Given the description of an element on the screen output the (x, y) to click on. 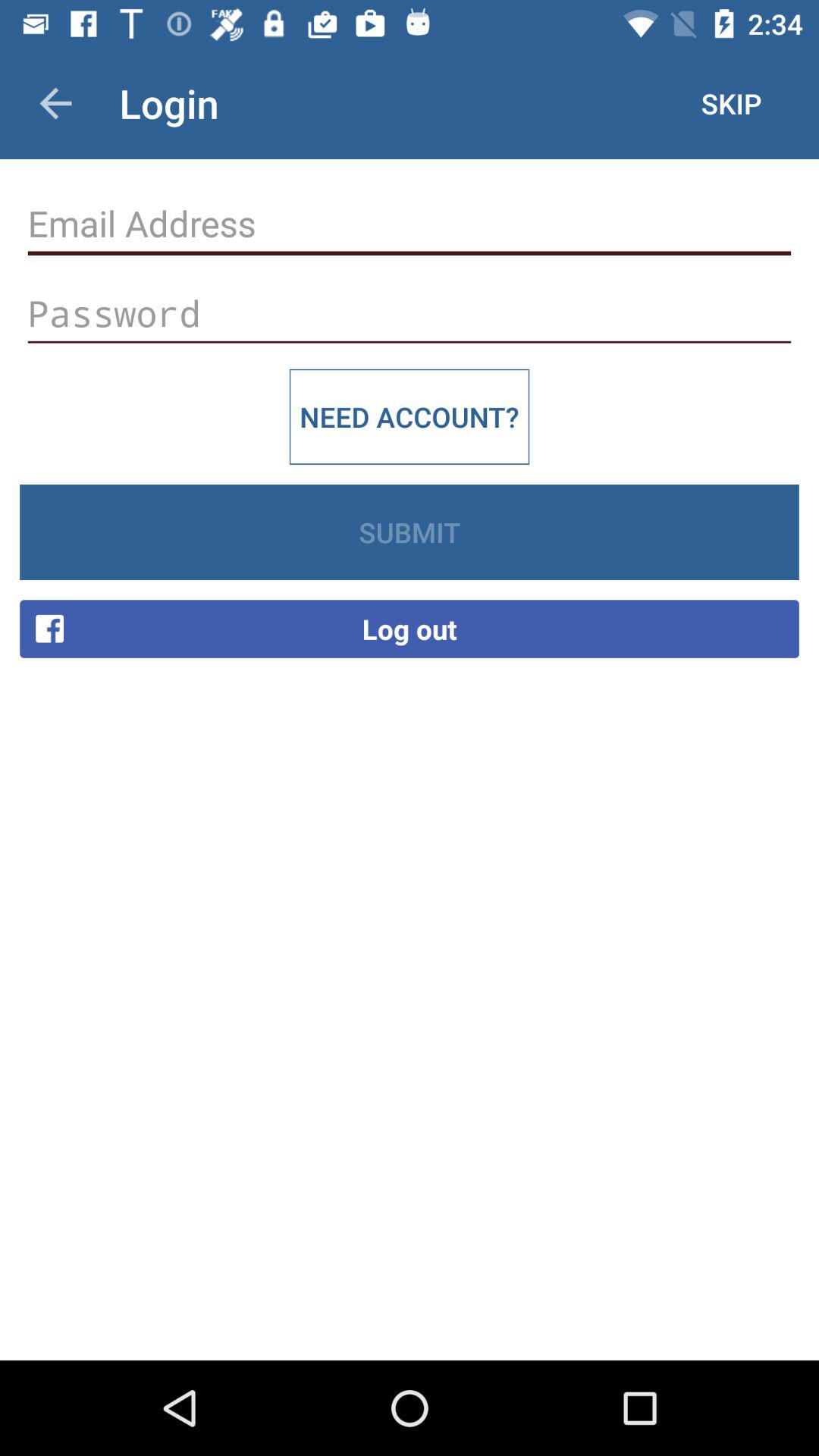
choose the item above submit item (409, 416)
